Given the description of an element on the screen output the (x, y) to click on. 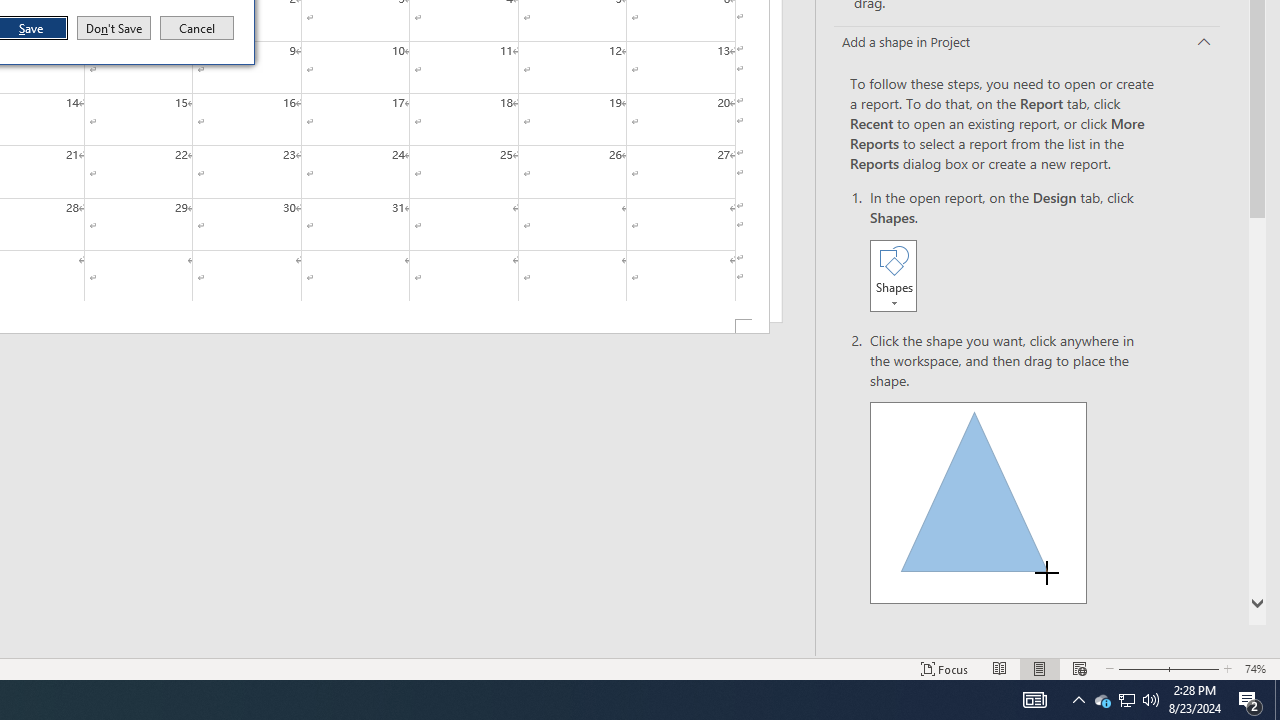
Cancel (1102, 699)
Action Center, 2 new notifications (197, 27)
Show desktop (1250, 699)
Don't Save (1277, 699)
Notification Chevron (113, 27)
User Promoted Notification Area (1078, 699)
Drawing a shape (1126, 699)
Q2790: 100% (978, 502)
